Given the description of an element on the screen output the (x, y) to click on. 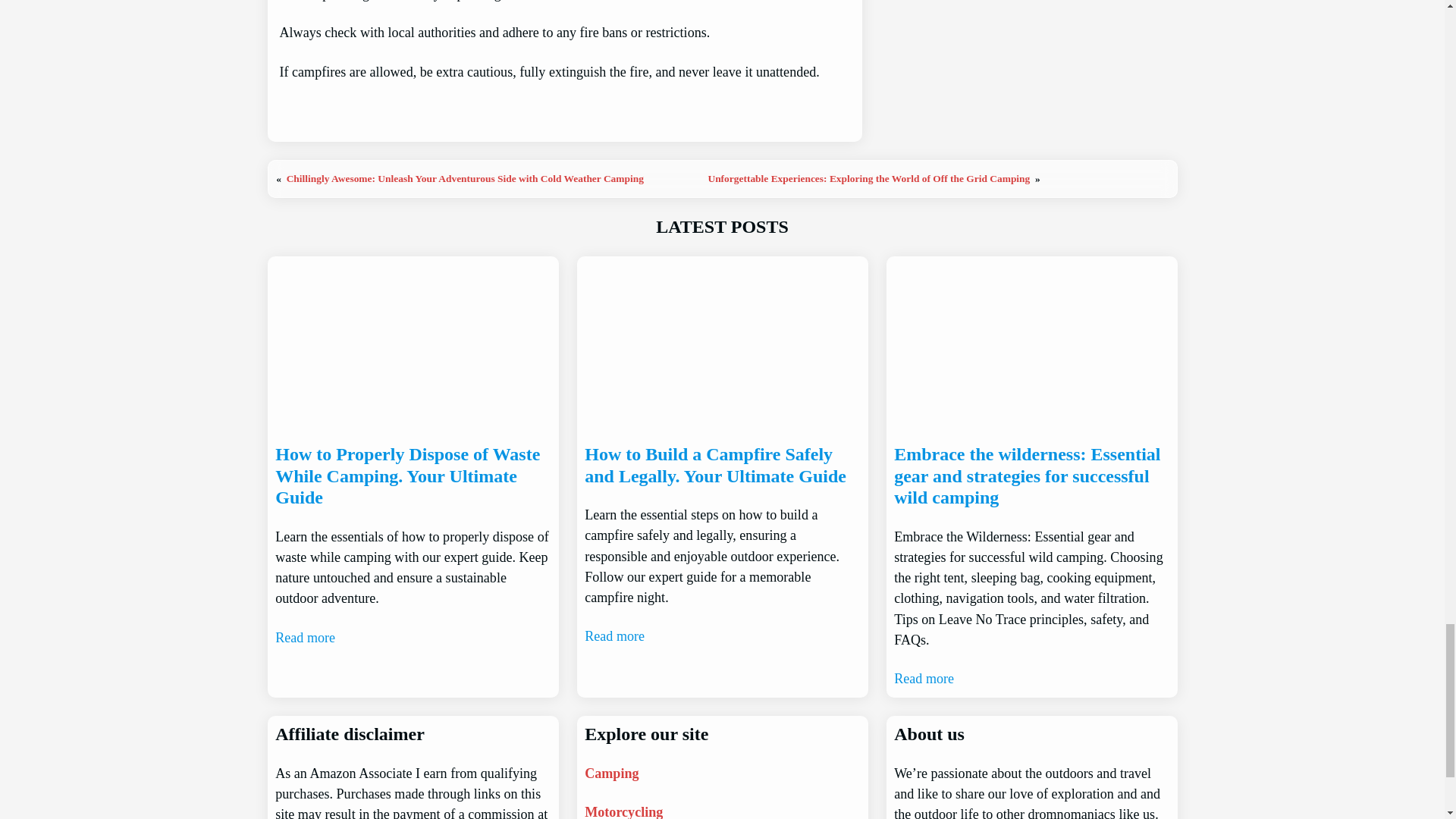
Read more (615, 636)
Read more (304, 638)
Motorcycling (623, 811)
Read more (923, 679)
Camping (612, 773)
